Given the description of an element on the screen output the (x, y) to click on. 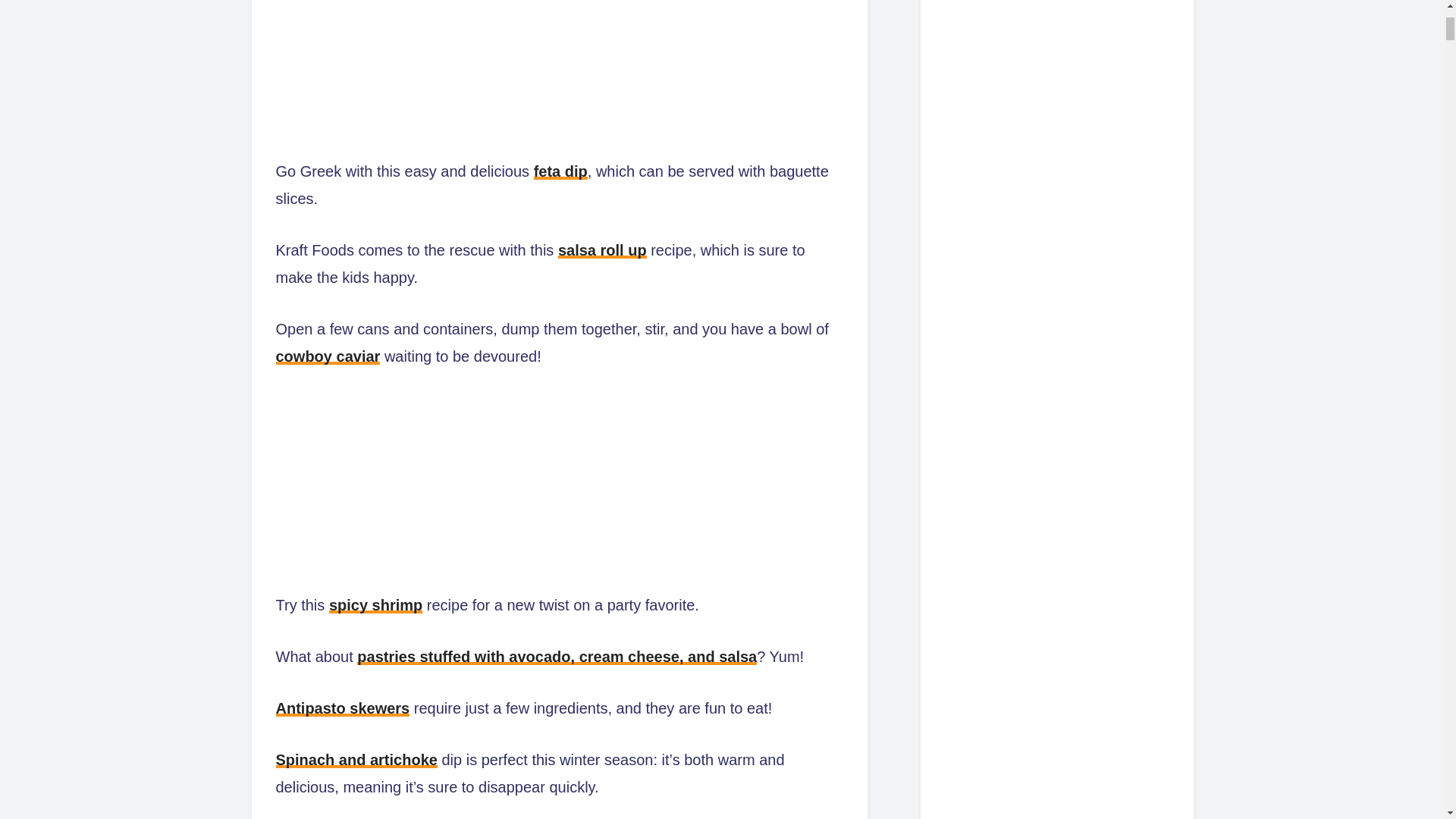
spicy shrimp (375, 605)
cowboy caviar (328, 356)
pastries stuffed with avocado, cream cheese, and salsa (556, 656)
Antipasto skewers (343, 708)
feta dip (561, 170)
salsa roll up (601, 249)
Spinach and artichoke (357, 759)
